Given the description of an element on the screen output the (x, y) to click on. 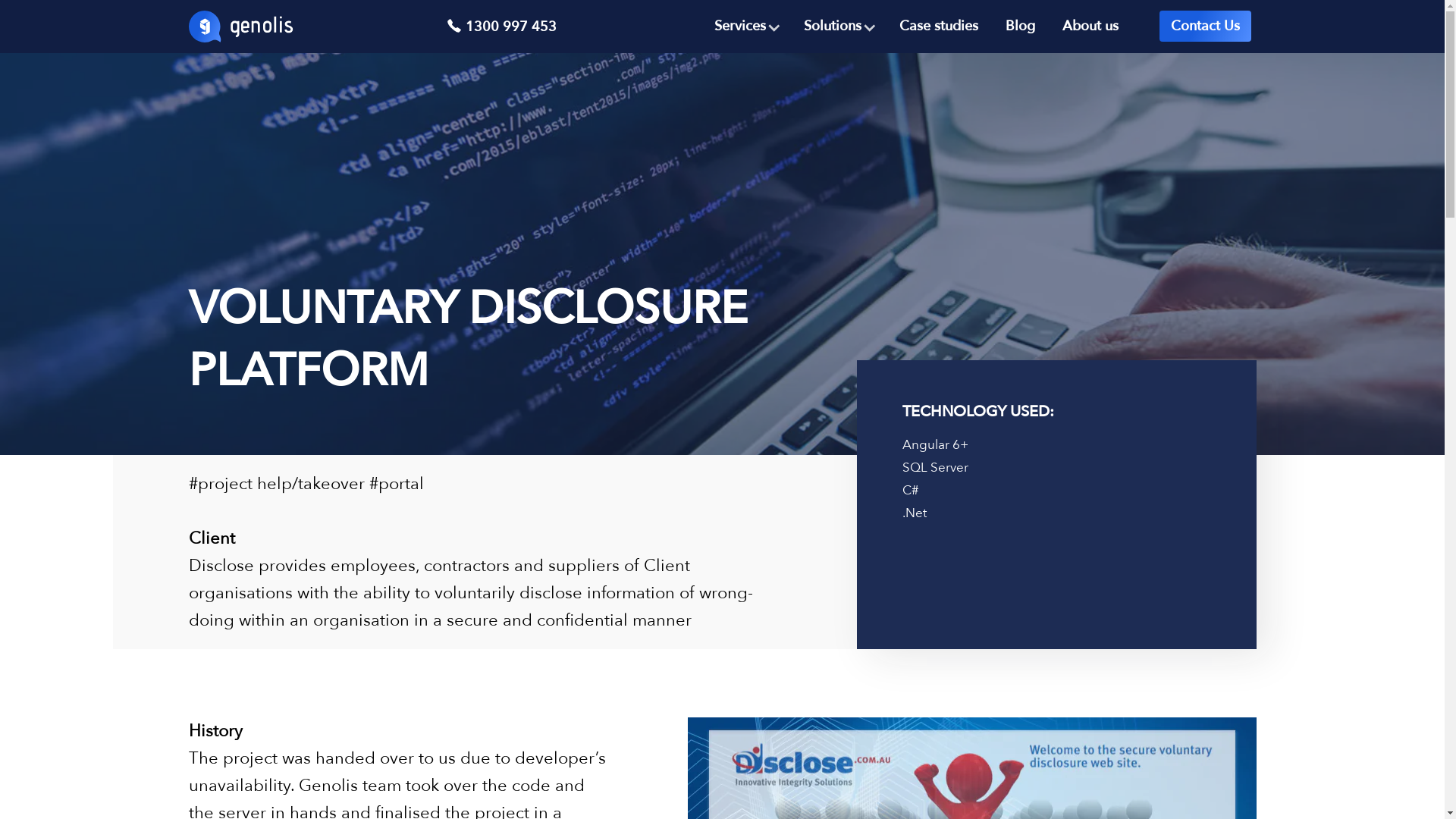
Solutions Element type: text (836, 25)
About us Element type: text (1090, 25)
Services Element type: text (744, 25)
Case studies Element type: text (937, 25)
Contact Us Element type: text (1204, 25)
1300 997 453 Element type: text (500, 26)
Blog Element type: text (1019, 25)
